Given the description of an element on the screen output the (x, y) to click on. 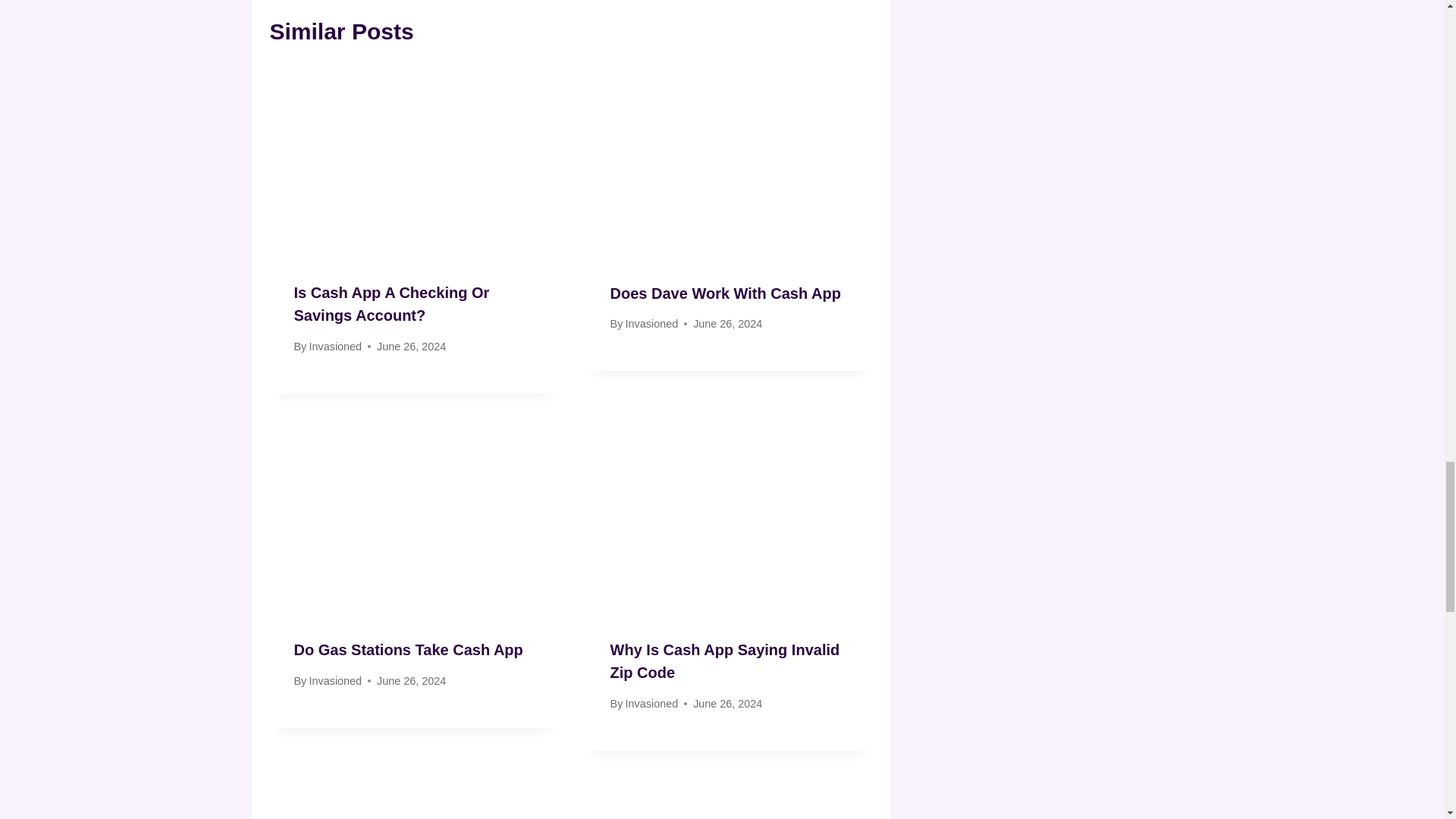
Is Cash App A Checking Or Savings Account? (391, 303)
Invasioned (334, 346)
